Given the description of an element on the screen output the (x, y) to click on. 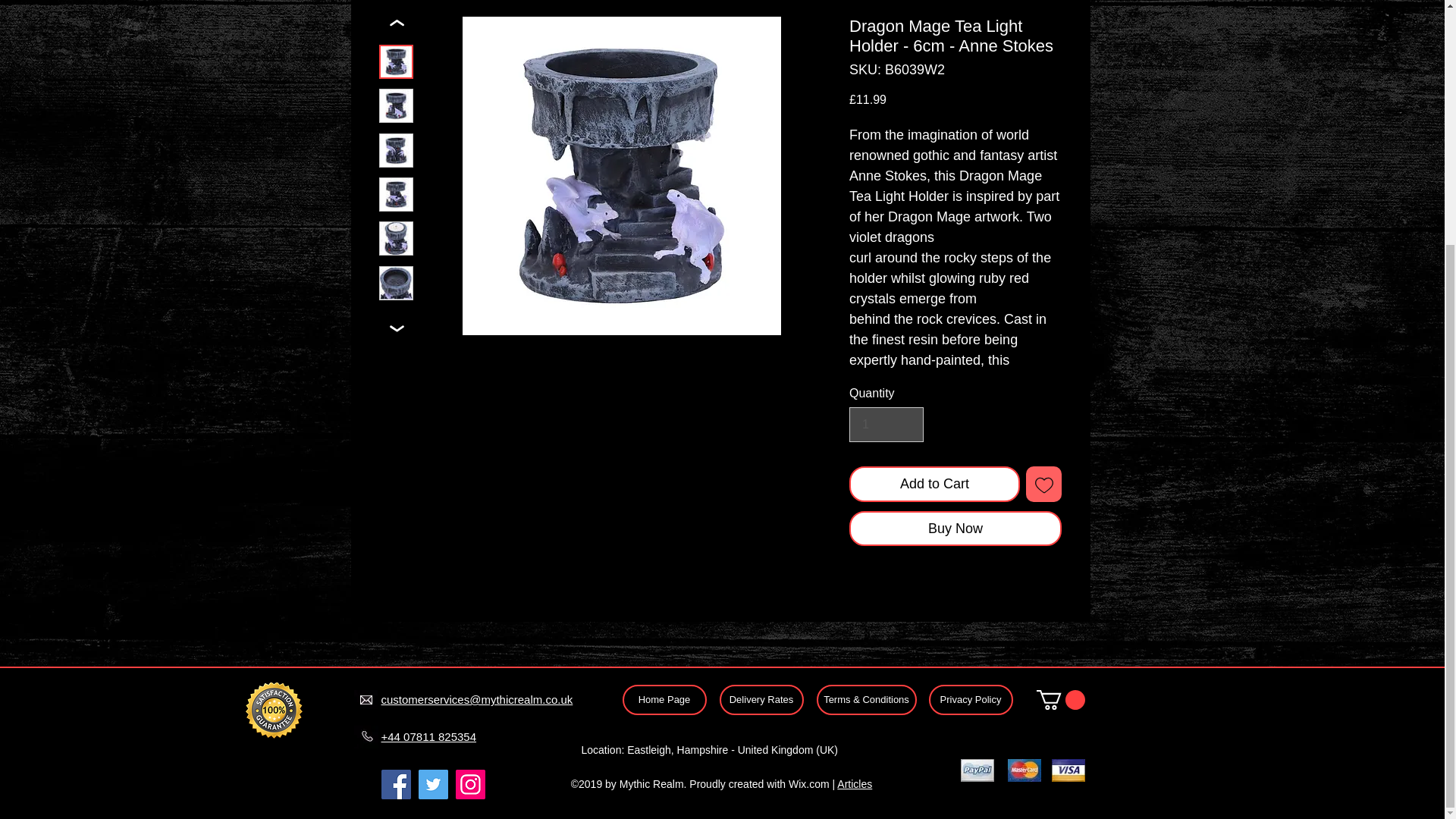
1 (885, 424)
